Given the description of an element on the screen output the (x, y) to click on. 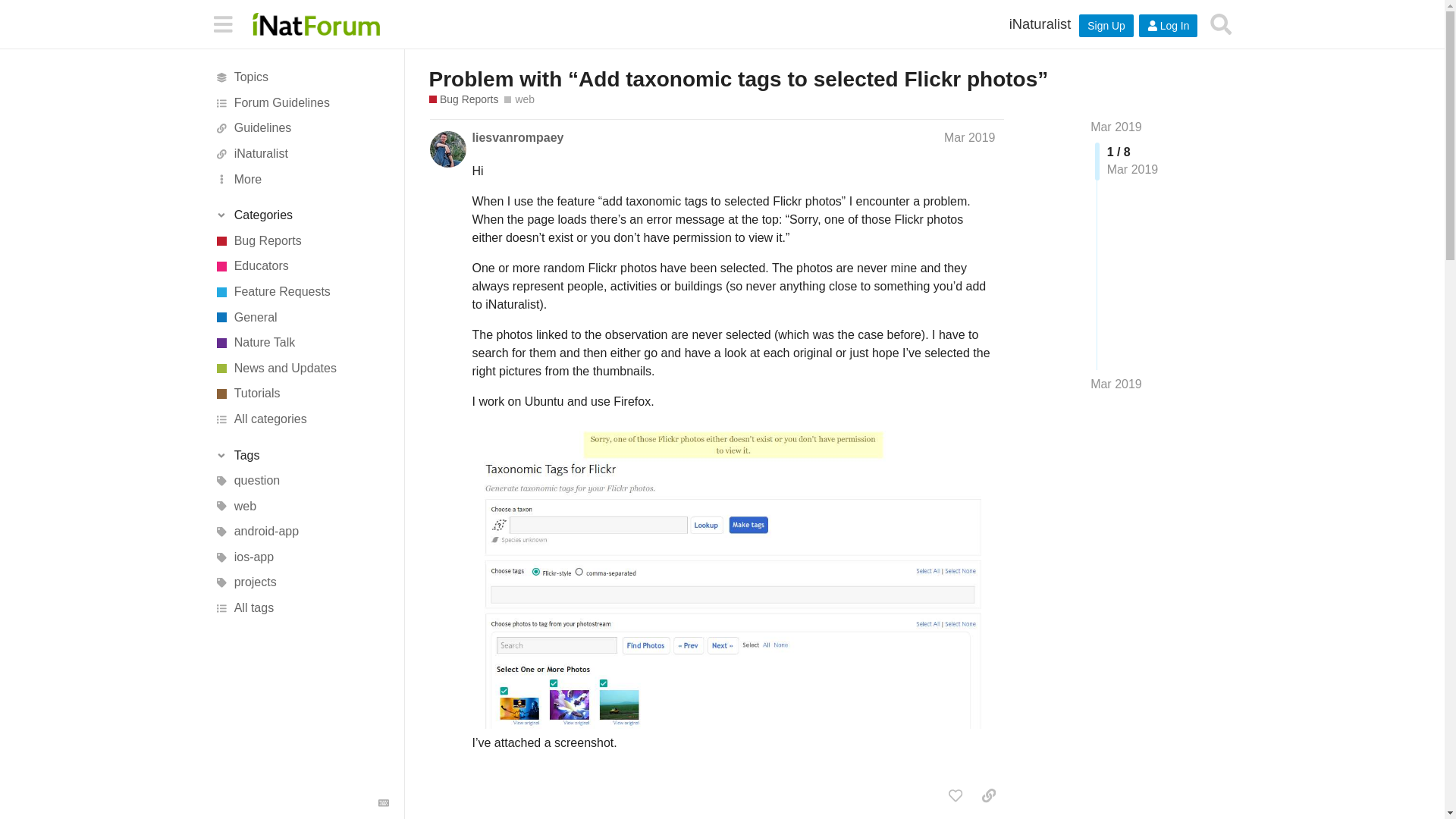
Sign Up (1105, 25)
android-app (301, 532)
liesvanrompaey (517, 137)
Topics (301, 77)
Log In (1168, 25)
ios-app (301, 557)
Guidelines (301, 128)
Mar 2019 (1115, 384)
All categories (301, 419)
More (301, 179)
